Given the description of an element on the screen output the (x, y) to click on. 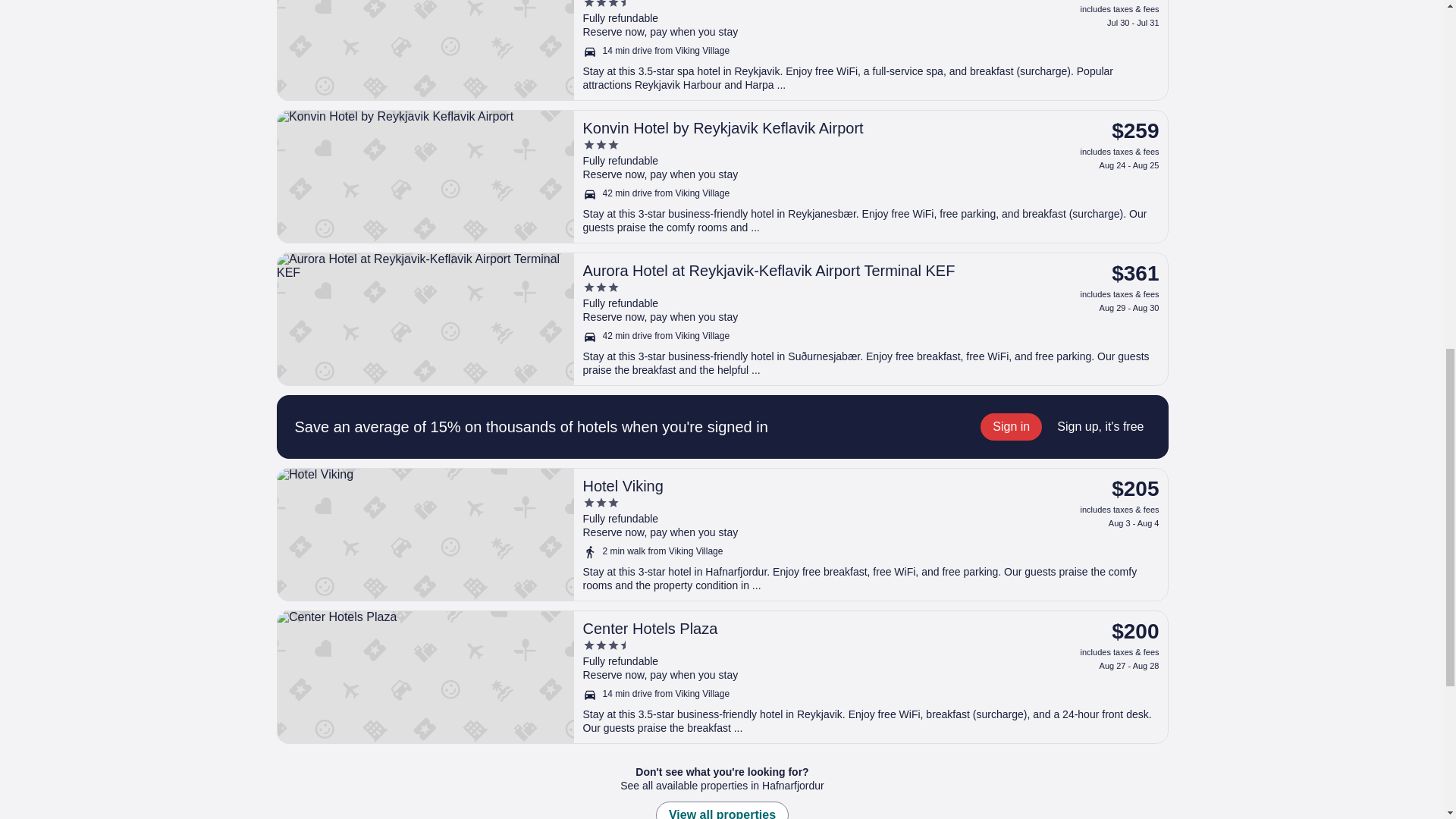
Aurora Hotel at Reykjavik-Keflavik Airport Terminal KEF (721, 318)
Sign up, it's free (1100, 426)
Center Hotels Plaza (798, 628)
Hotel Viking (721, 534)
Sign in (1010, 426)
Hotel Reykjavik Saga (721, 50)
Hotel Viking (798, 485)
Center Hotels Plaza (721, 676)
Konvin Hotel by Reykjavik Keflavik Airport (798, 127)
Konvin Hotel by Reykjavik Keflavik Airport (721, 176)
Aurora Hotel at Reykjavik-Keflavik Airport Terminal KEF (798, 270)
